Given the description of an element on the screen output the (x, y) to click on. 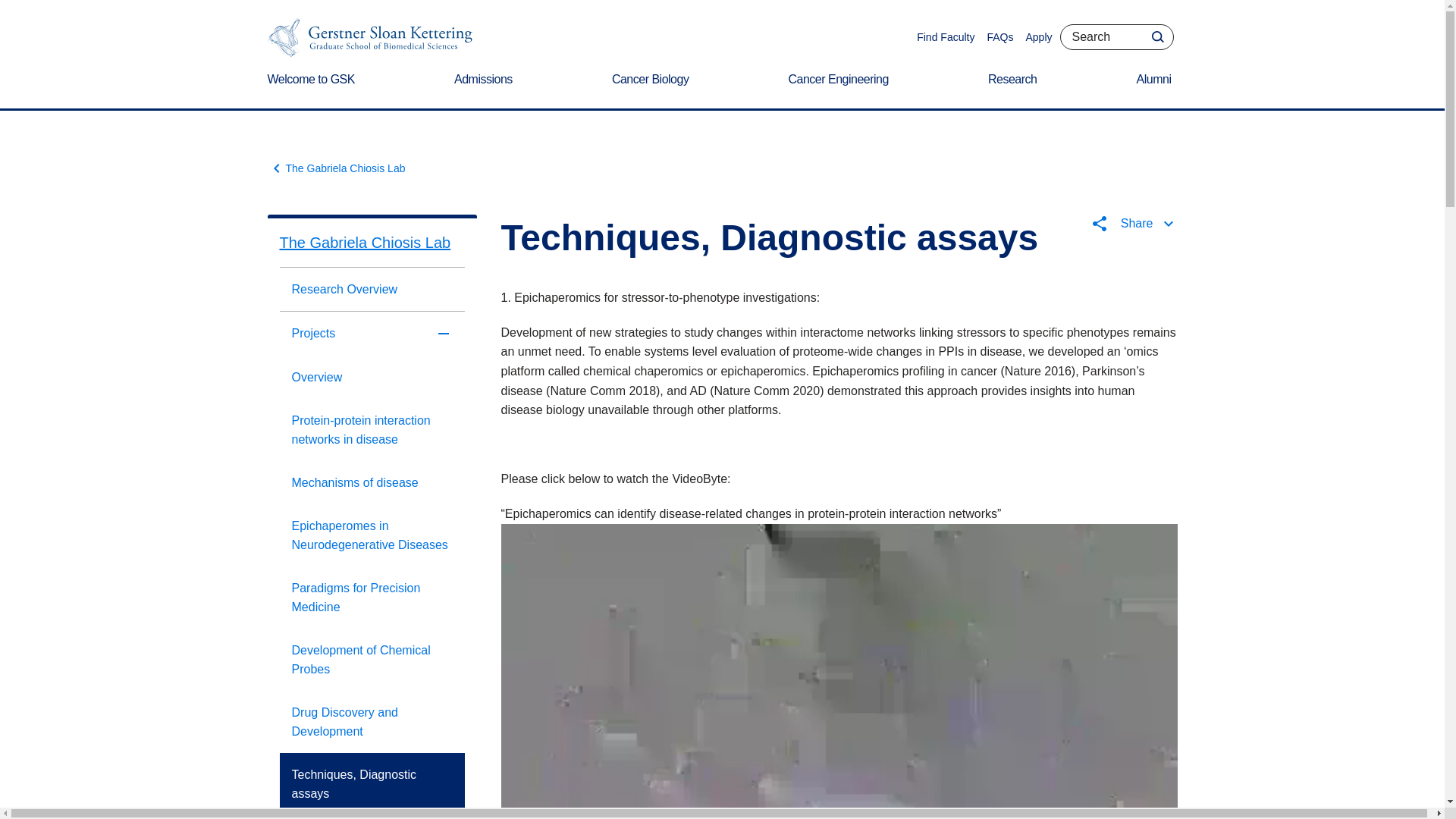
Overview (371, 376)
Research Overview (371, 289)
Techniques, Diagnostic assays (371, 783)
Mechanisms of disease (371, 482)
Paradigms for Precision Medicine (371, 597)
Insert a query. Press enter to send (1115, 37)
Alumni (1157, 88)
The Gabriela Chiosis Lab (335, 167)
Apply (1038, 37)
Admissions (486, 88)
Machine learning (371, 816)
FAQs (1000, 37)
Cancer Biology (653, 88)
The Gabriela Chiosis Lab (371, 242)
